Given the description of an element on the screen output the (x, y) to click on. 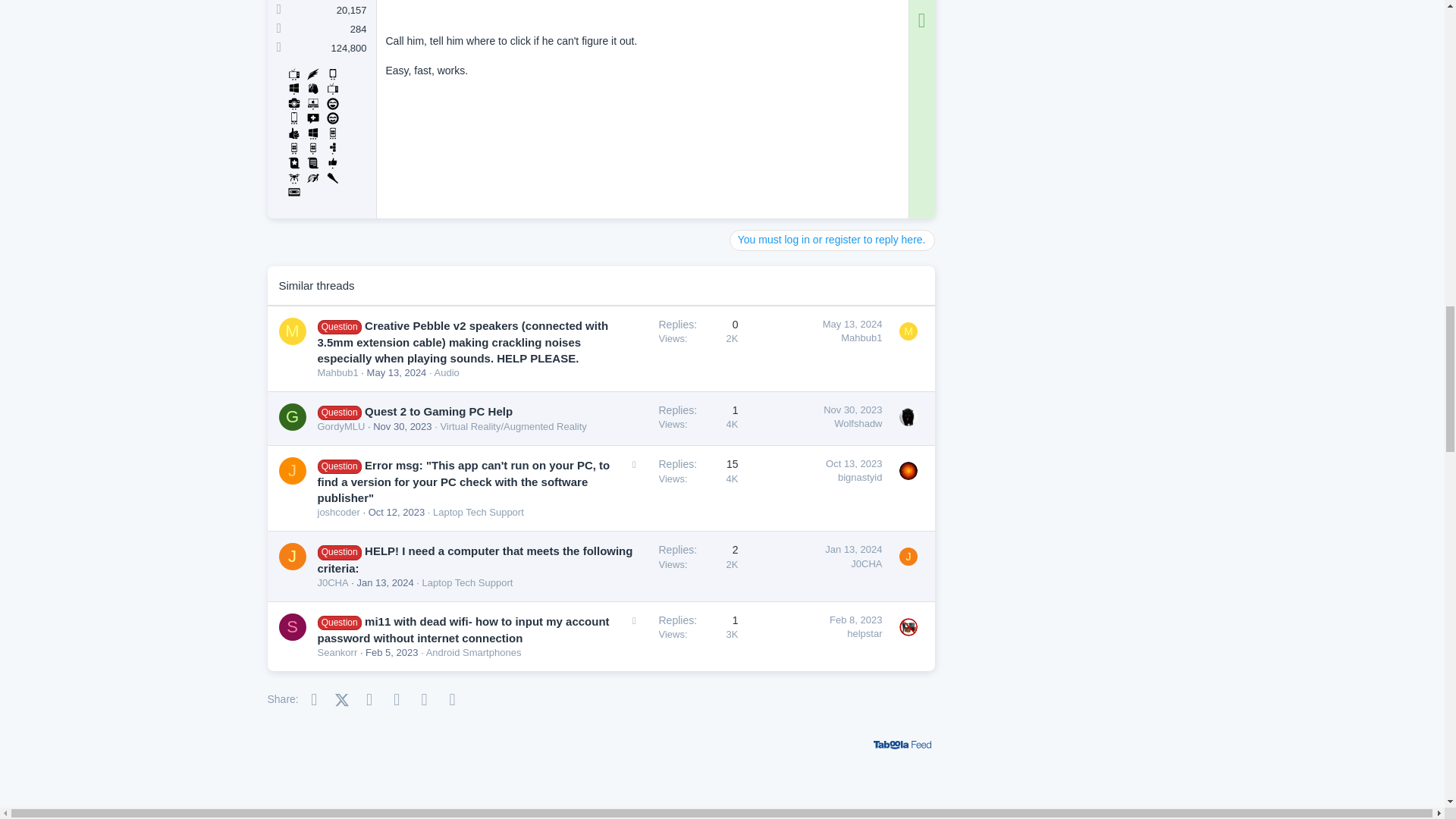
First message reaction score: 0 (698, 348)
First message reaction score: 0 (698, 418)
Nov 30, 2023 at 11:57 AM (401, 426)
May 13, 2024 at 2:41 PM (852, 324)
May 13, 2024 at 2:41 PM (396, 372)
